Given the description of an element on the screen output the (x, y) to click on. 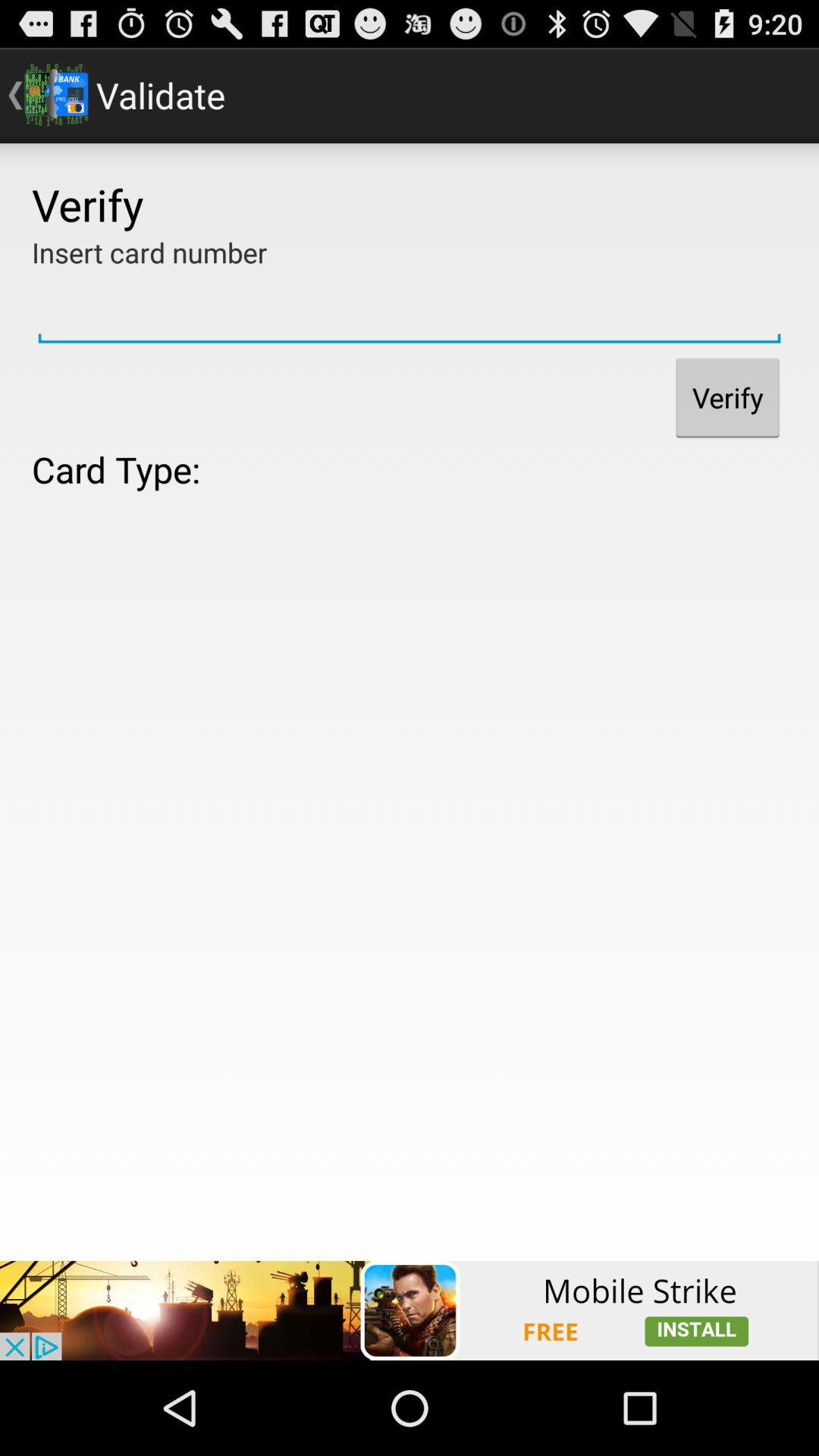
advertisement (409, 1310)
